Given the description of an element on the screen output the (x, y) to click on. 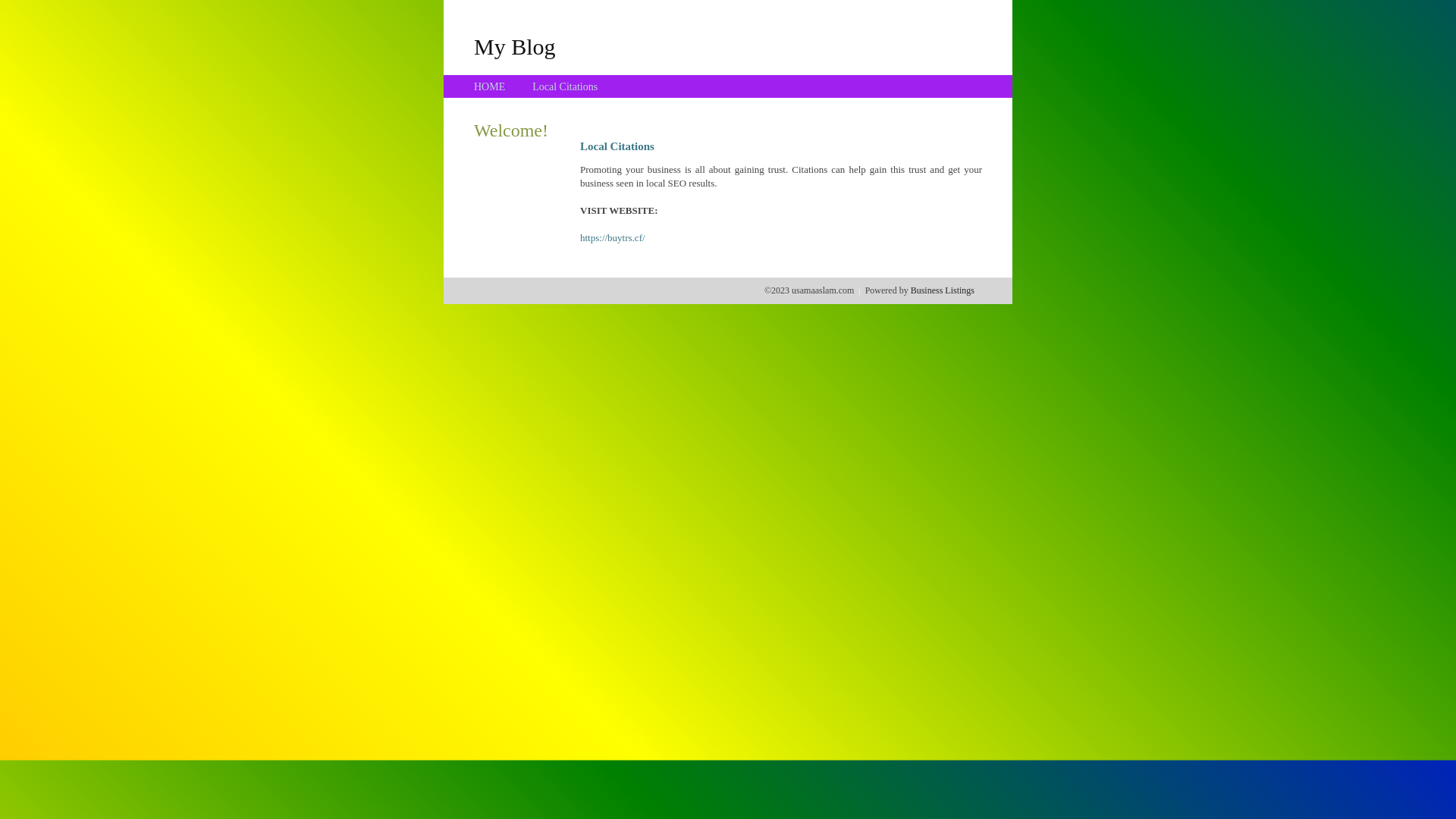
Business Listings Element type: text (942, 290)
My Blog Element type: text (514, 46)
HOME Element type: text (489, 86)
https://buytrs.cf/ Element type: text (612, 237)
Local Citations Element type: text (564, 86)
